Given the description of an element on the screen output the (x, y) to click on. 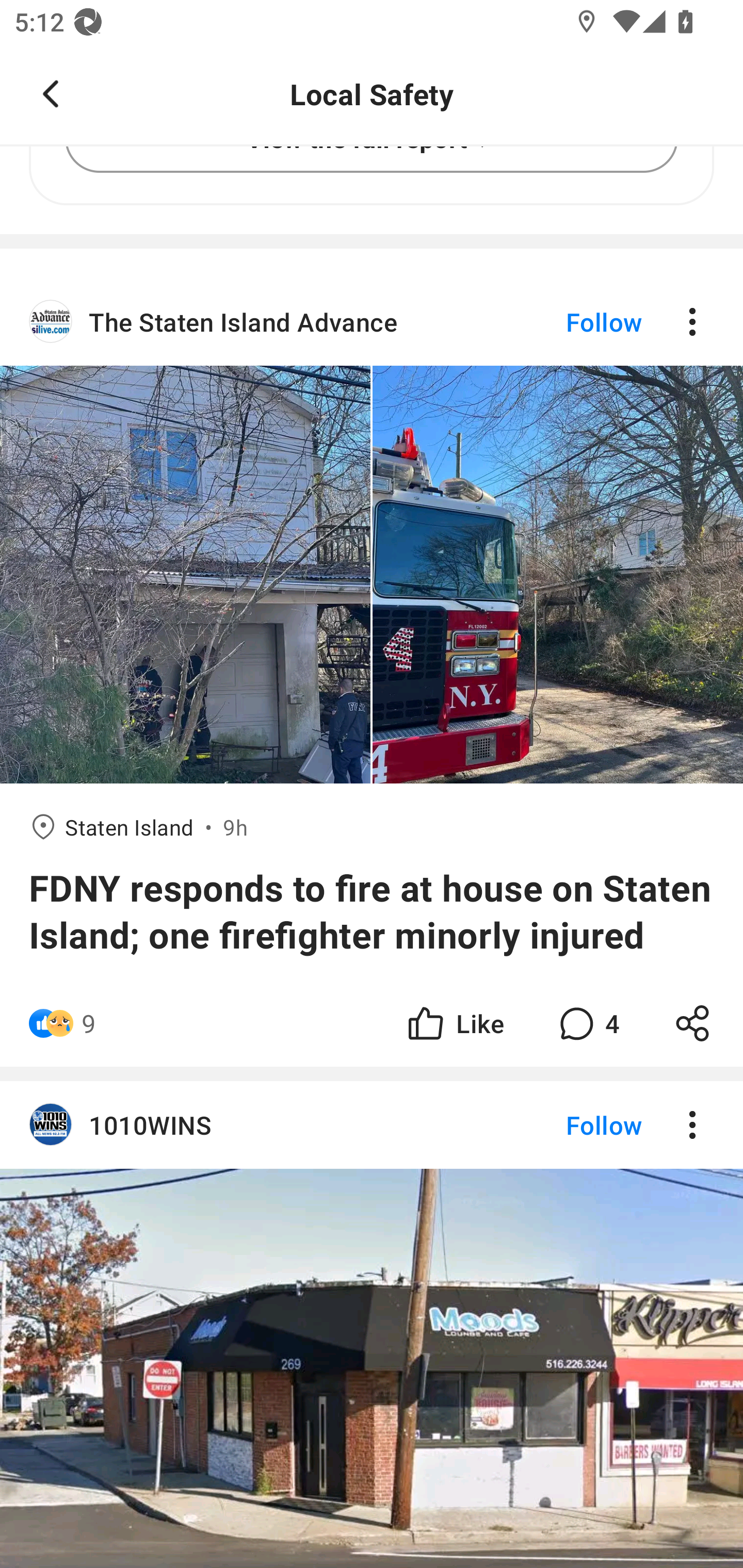
Navigate up (50, 93)
The Staten Island Advance Follow (371, 321)
Follow (569, 321)
9 (88, 1023)
Like (454, 1023)
4 (587, 1023)
1010WINS Follow (371, 1324)
1010WINS Follow (371, 1124)
Follow (569, 1124)
